Given the description of an element on the screen output the (x, y) to click on. 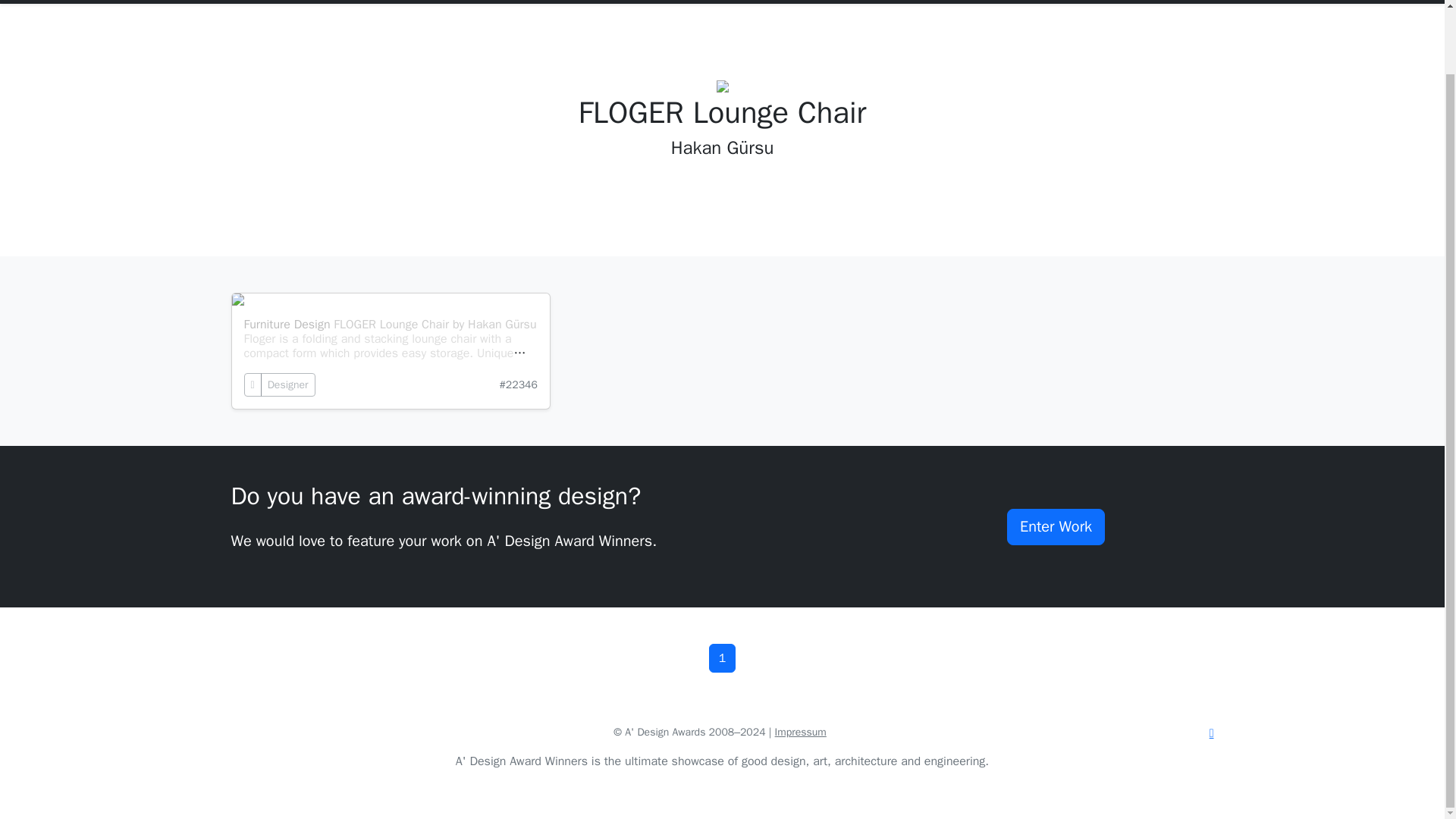
Enter Work (1056, 526)
Impressum (800, 731)
1 (722, 657)
Designer (287, 384)
